Given the description of an element on the screen output the (x, y) to click on. 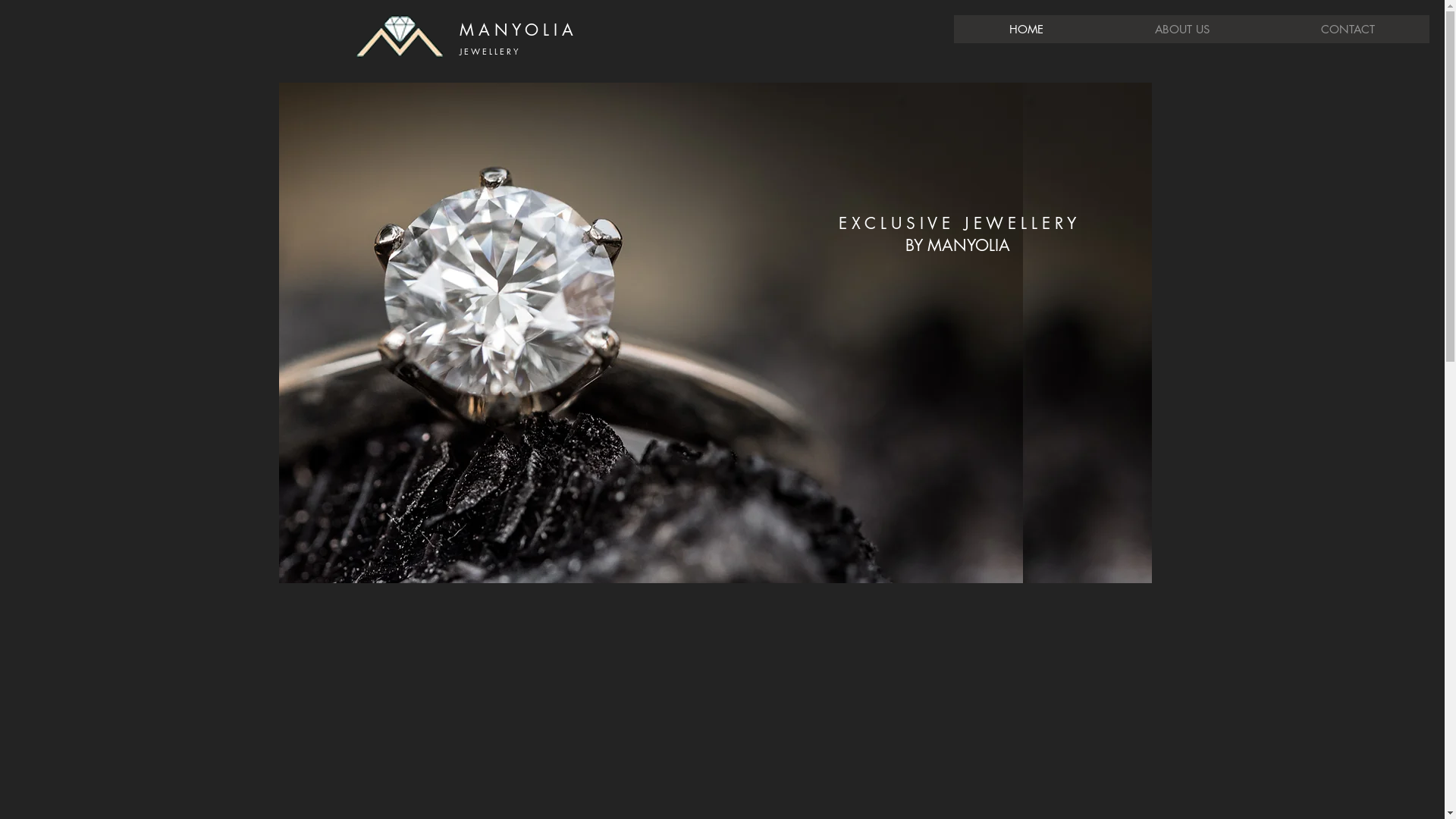
Gold Jewelry Element type: hover (779, 332)
HOME Element type: text (1025, 29)
CONTACT Element type: text (1346, 29)
ABOUT US Element type: text (1181, 29)
Gold Jewelry Element type: hover (650, 332)
